Given the description of an element on the screen output the (x, y) to click on. 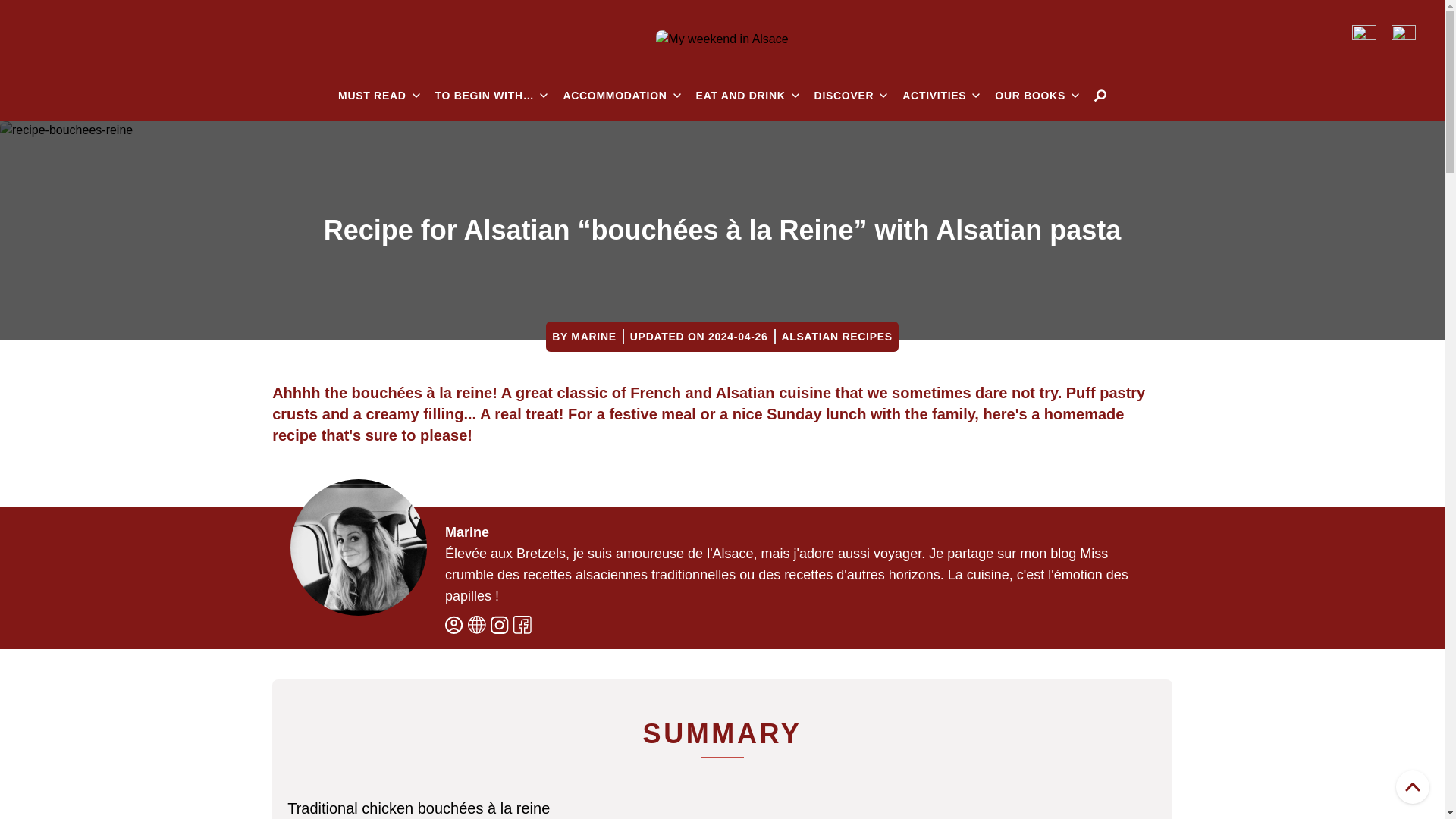
DISCOVER (850, 95)
MUST READ (378, 95)
ACCOMMODATION (620, 95)
ACTIVITIES (940, 95)
EAT AND DRINK (747, 95)
